Given the description of an element on the screen output the (x, y) to click on. 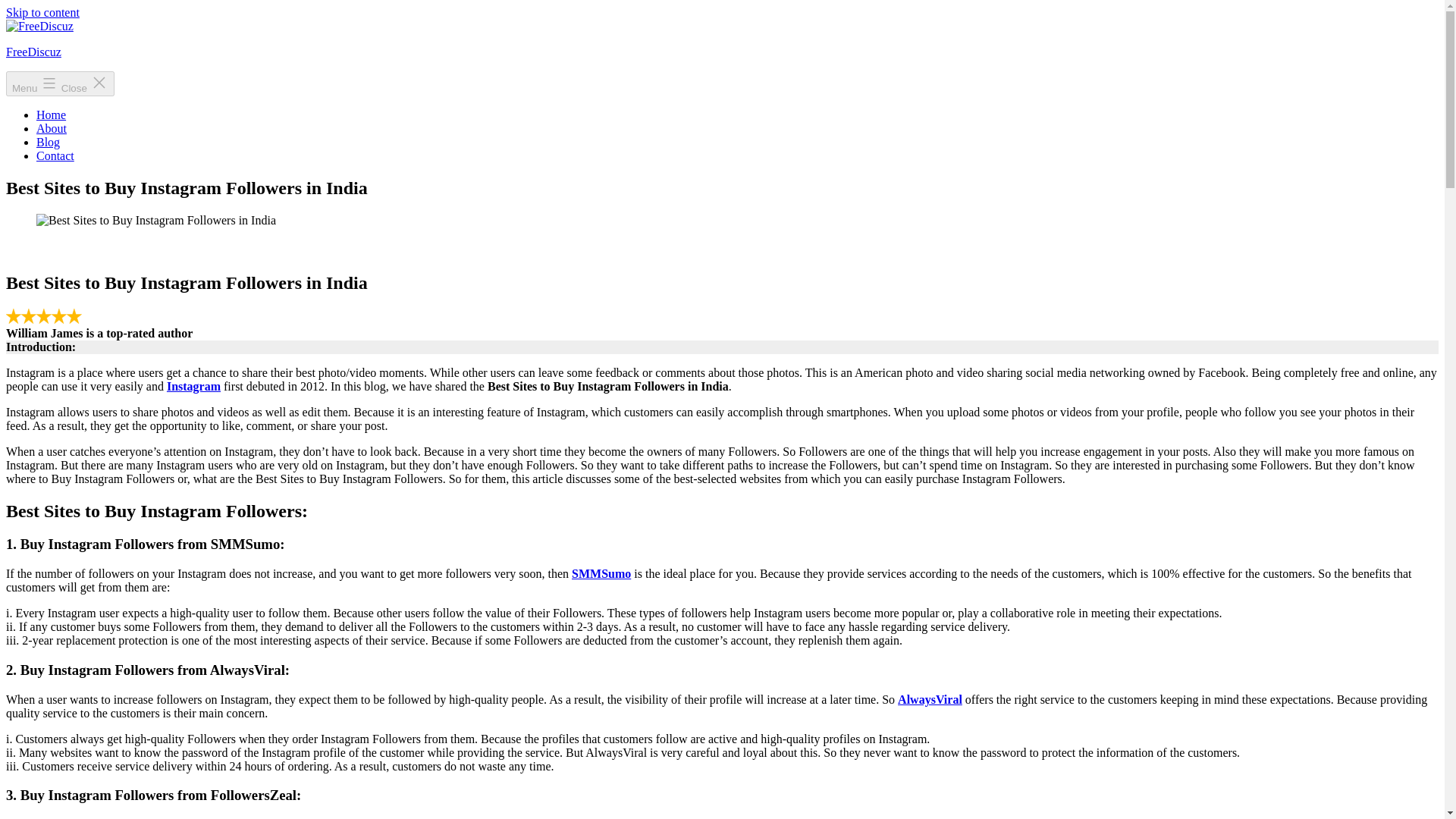
Contact (55, 155)
Instagram (194, 386)
Skip to content (42, 11)
Home (50, 114)
AlwaysViral (930, 698)
Menu Close (60, 83)
SMMSumo (601, 573)
About (51, 128)
FreeDiscuz (33, 51)
Blog (47, 141)
